Given the description of an element on the screen output the (x, y) to click on. 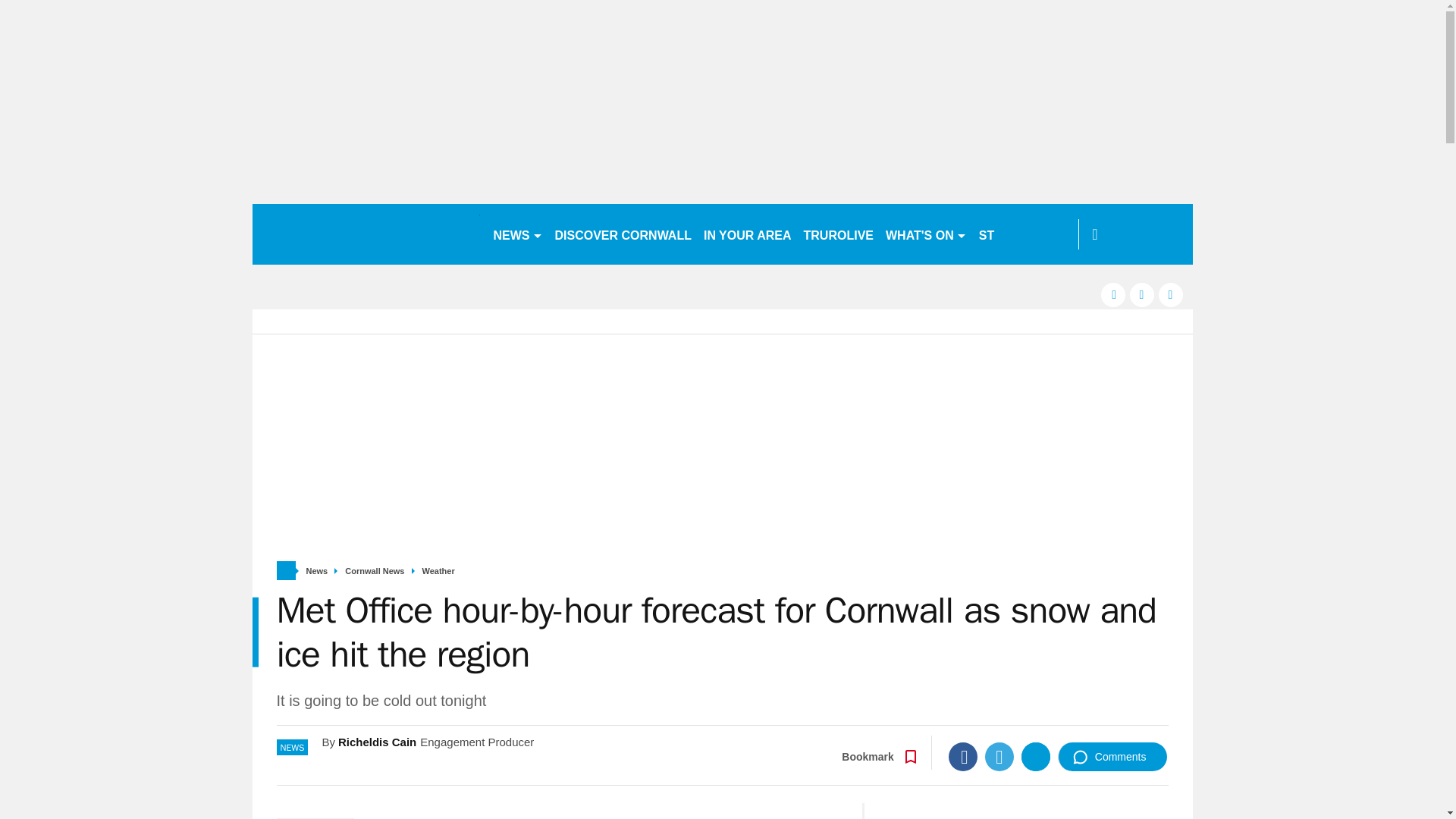
IN YOUR AREA (747, 233)
TRUROLIVE (838, 233)
instagram (1170, 294)
Comments (1112, 756)
WHAT'S ON (925, 233)
DISCOVER CORNWALL (622, 233)
Facebook (962, 756)
NEWS (517, 233)
Twitter (999, 756)
facebook (1112, 294)
